Given the description of an element on the screen output the (x, y) to click on. 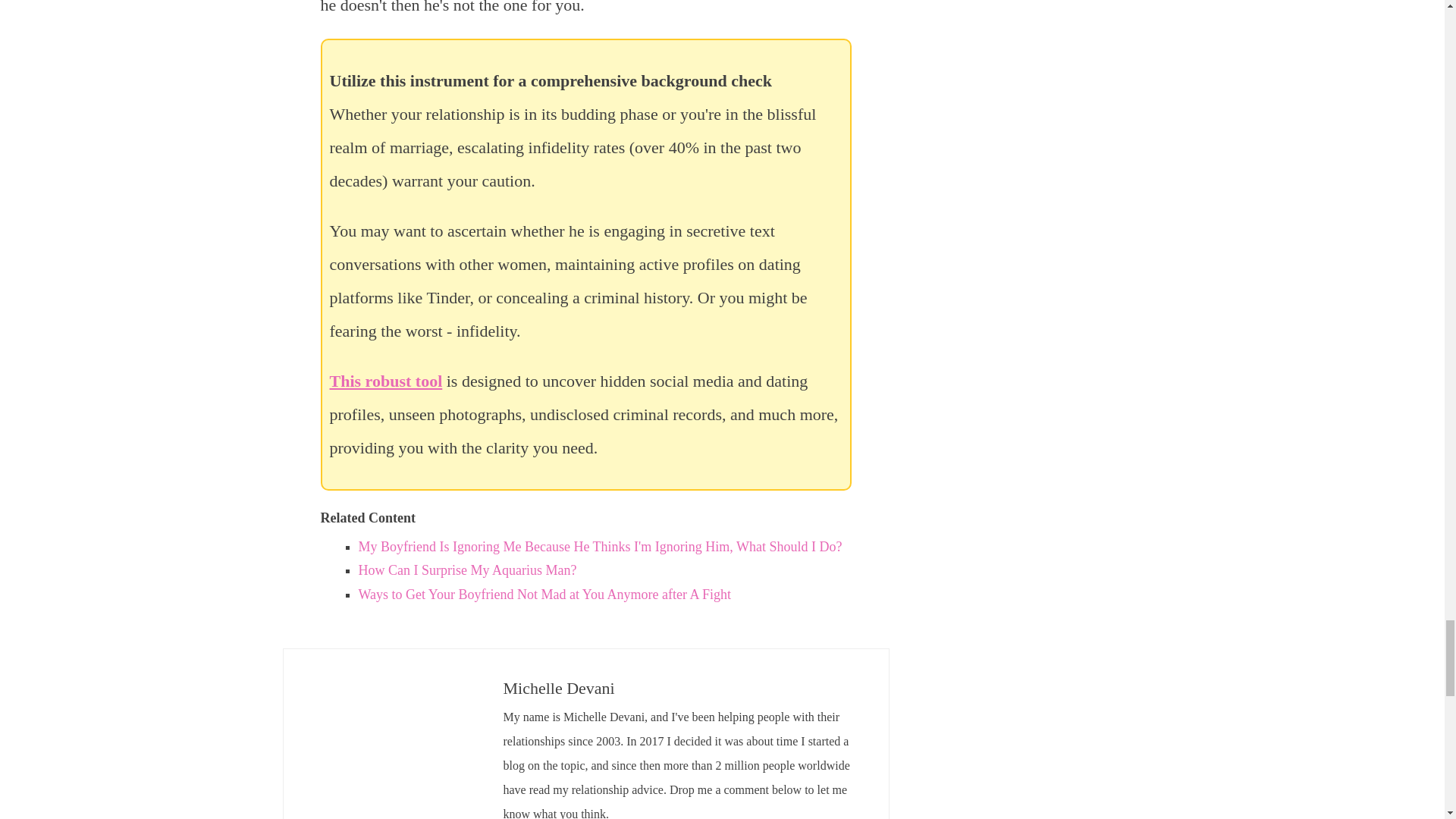
How Can I Surprise My Aquarius Man? (467, 570)
This robust tool (385, 380)
